Given the description of an element on the screen output the (x, y) to click on. 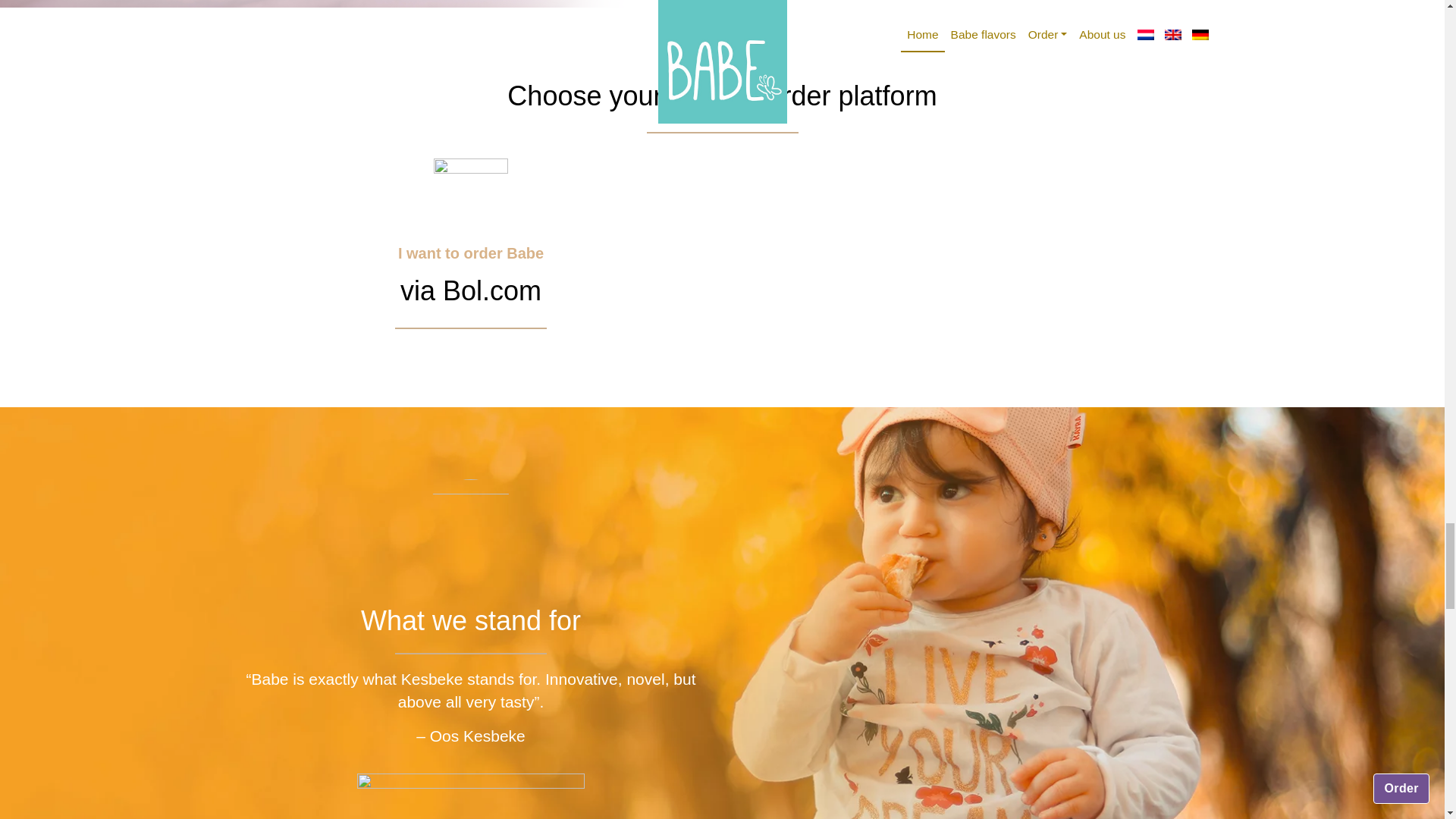
via Bol.com (470, 290)
I want to order Babe (470, 252)
